Given the description of an element on the screen output the (x, y) to click on. 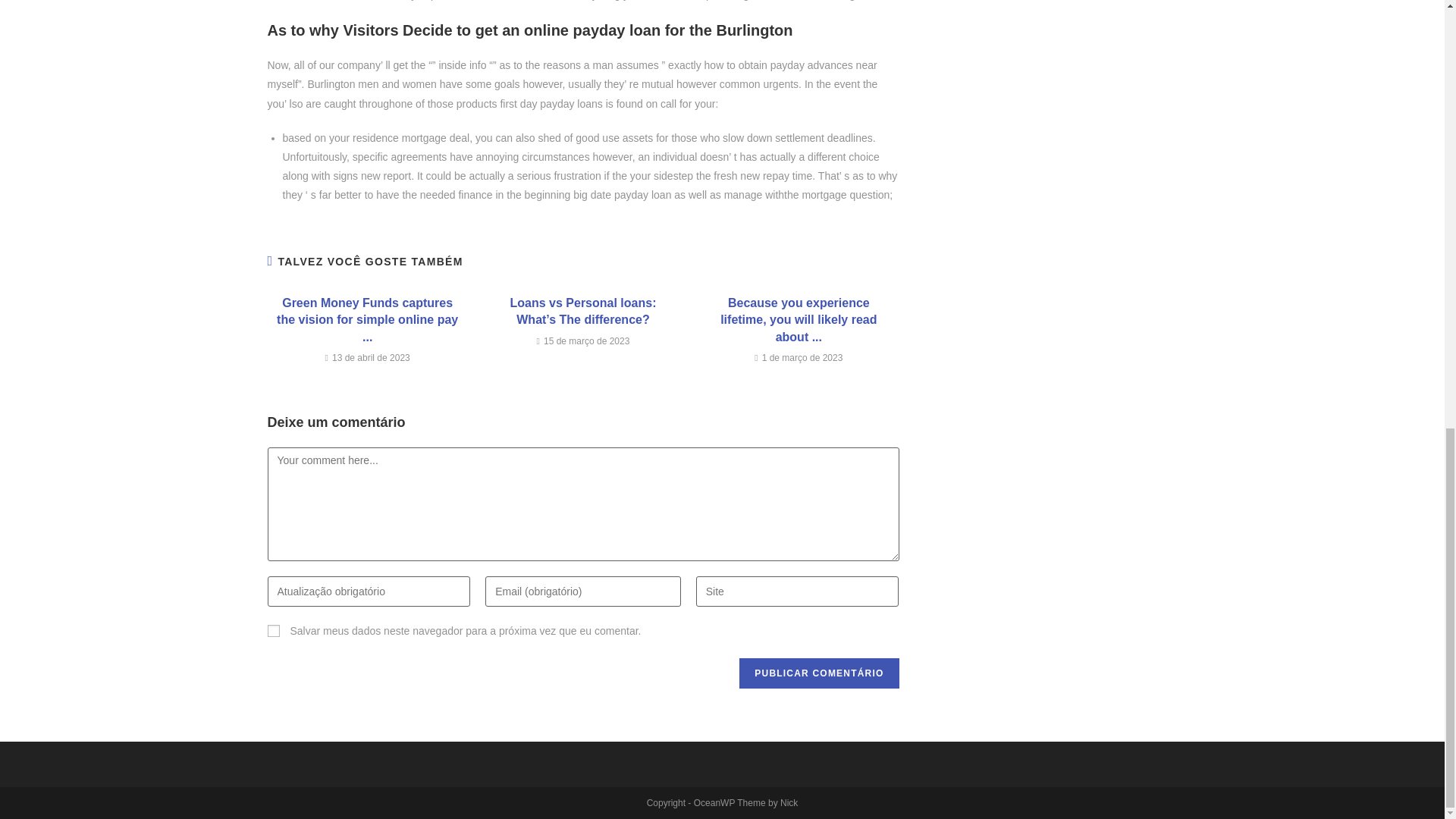
yes (272, 630)
